Given the description of an element on the screen output the (x, y) to click on. 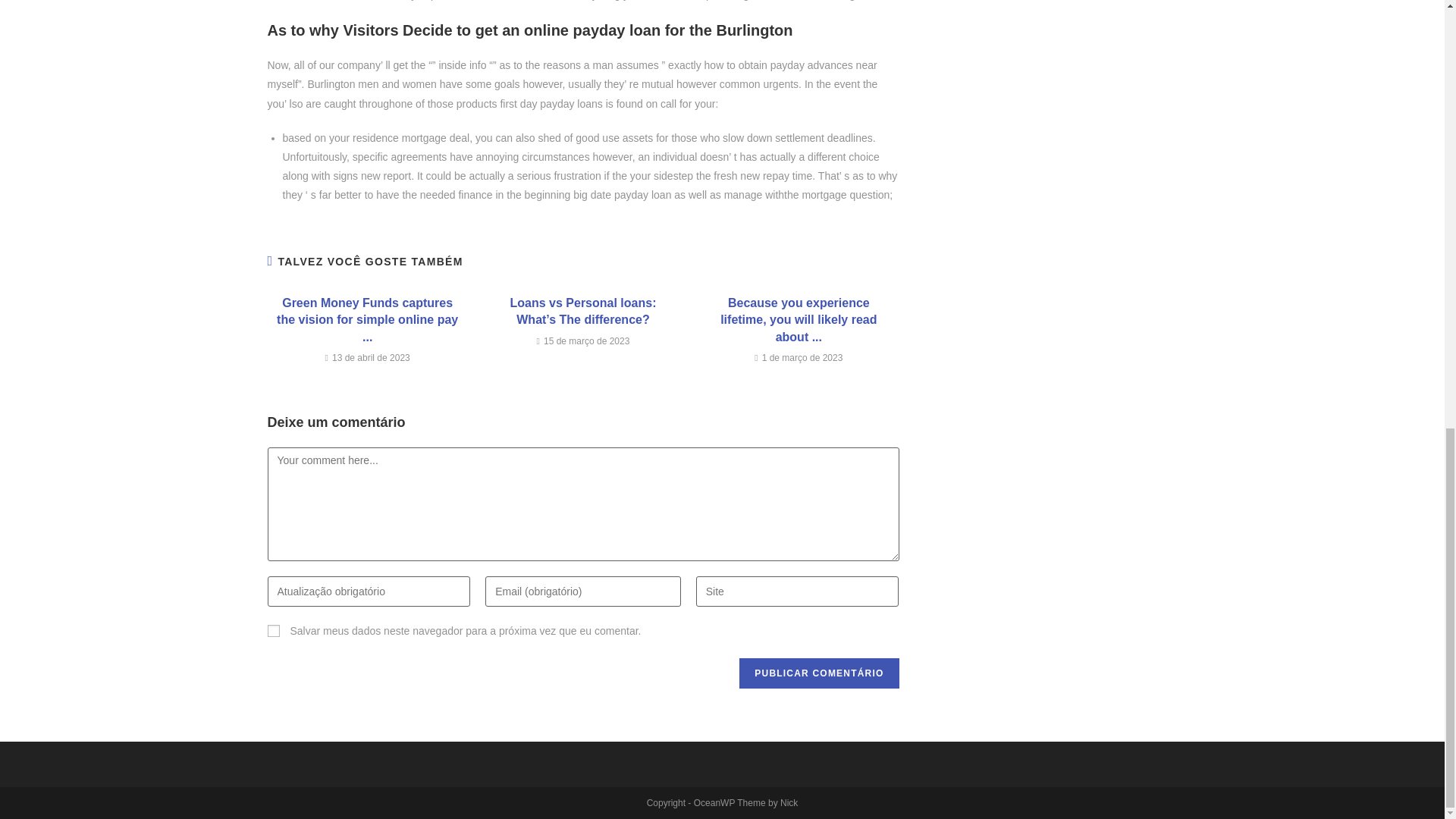
yes (272, 630)
